Given the description of an element on the screen output the (x, y) to click on. 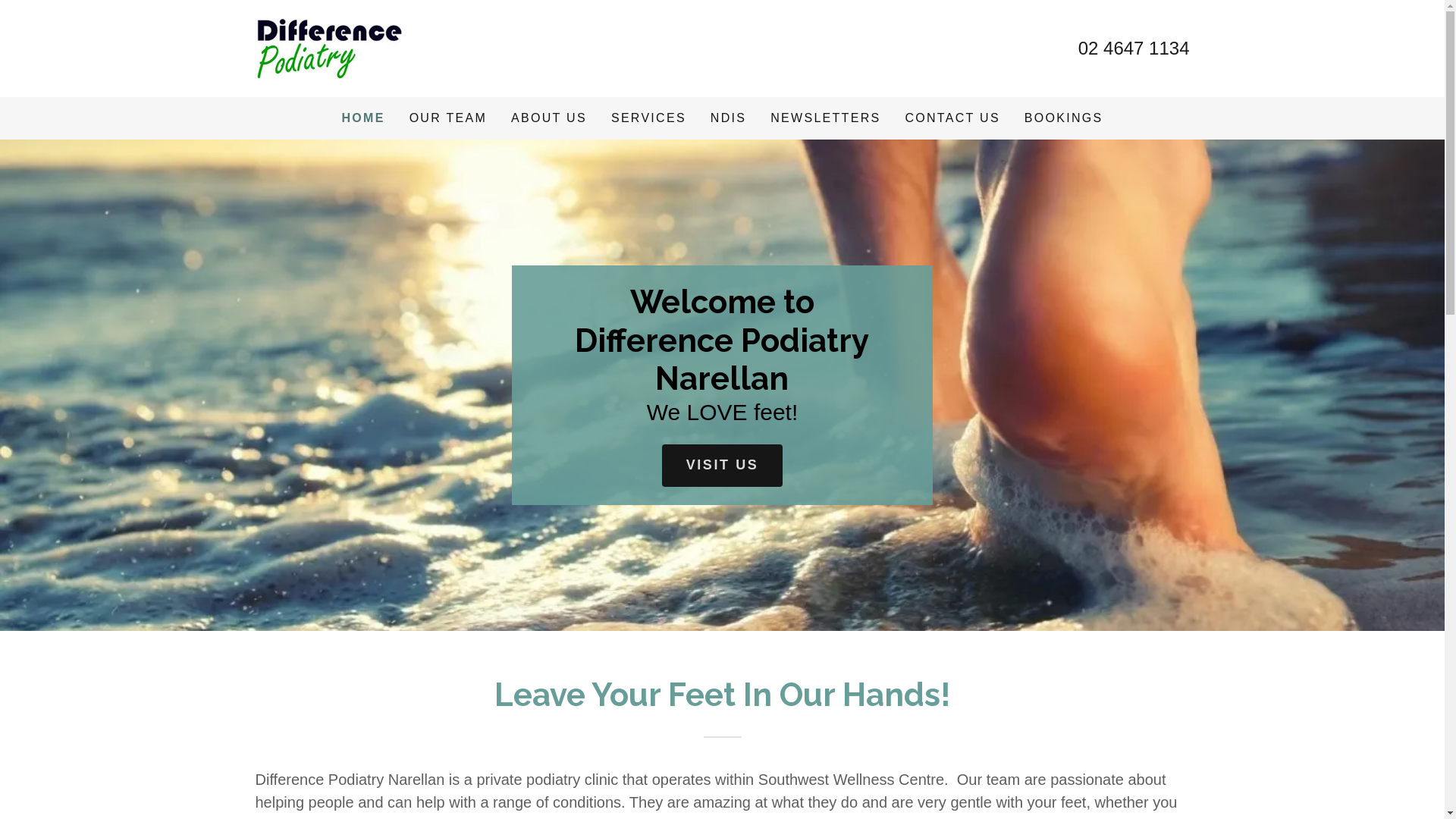
NEWSLETTERS Element type: text (824, 117)
BOOKINGS Element type: text (1063, 117)
SERVICES Element type: text (648, 117)
02 4647 1134 Element type: text (1133, 47)
HOME Element type: text (362, 118)
ABOUT US Element type: text (548, 117)
OUR TEAM Element type: text (447, 117)
VISIT US Element type: text (722, 465)
CONTACT US Element type: text (952, 117)
NDIS Element type: text (728, 117)
Difference Podiatry Element type: hover (327, 47)
